Given the description of an element on the screen output the (x, y) to click on. 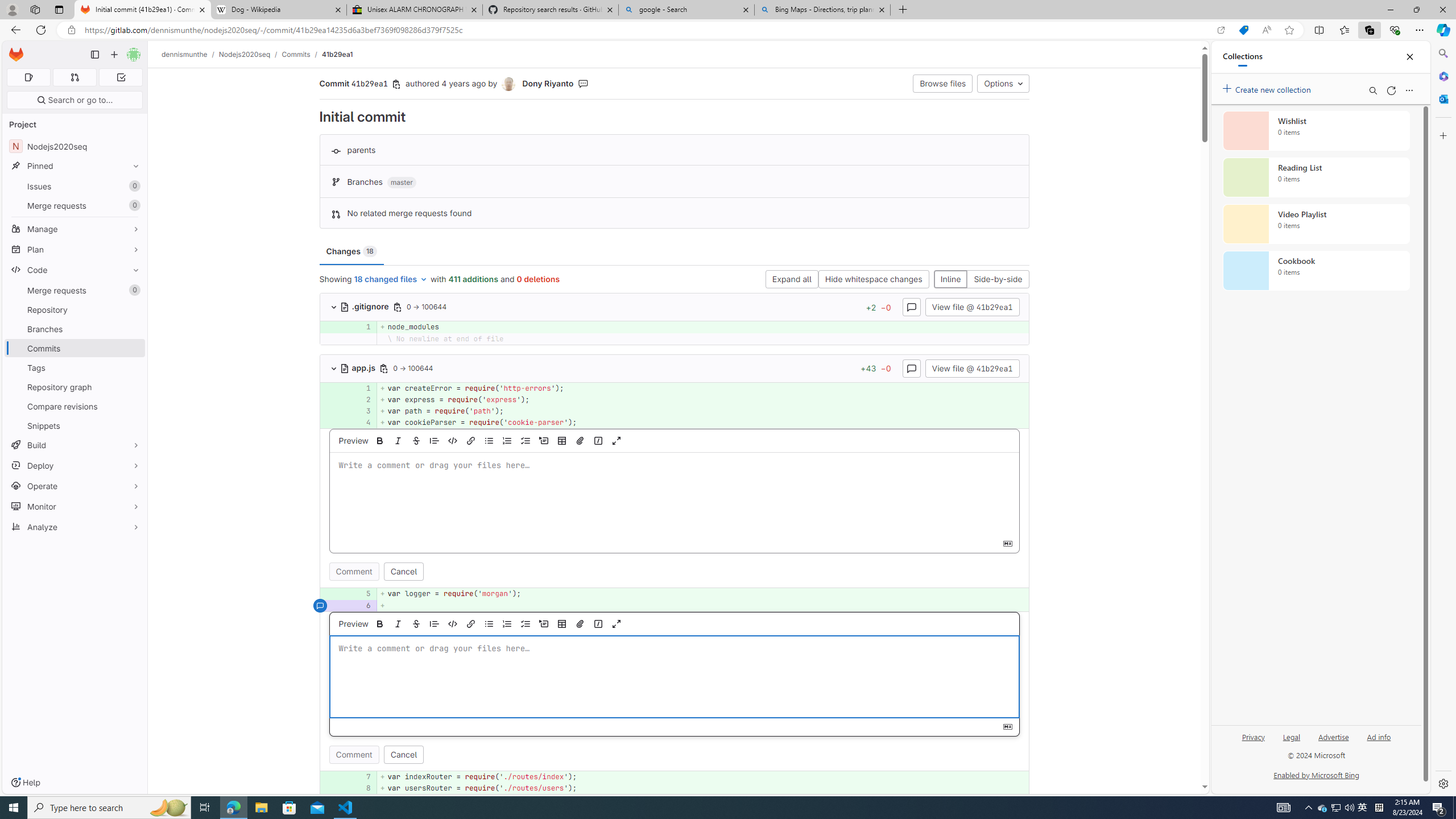
Unpin Issues (132, 186)
Add a comment to this line (320, 788)
Hide whitespace changes (873, 279)
Class: s12 (319, 787)
Dony Riyanto's avatar (509, 83)
Commits (295, 53)
Deploy (74, 465)
Add a bullet list (488, 623)
Create new collection (1268, 87)
Branches (74, 328)
